Given the description of an element on the screen output the (x, y) to click on. 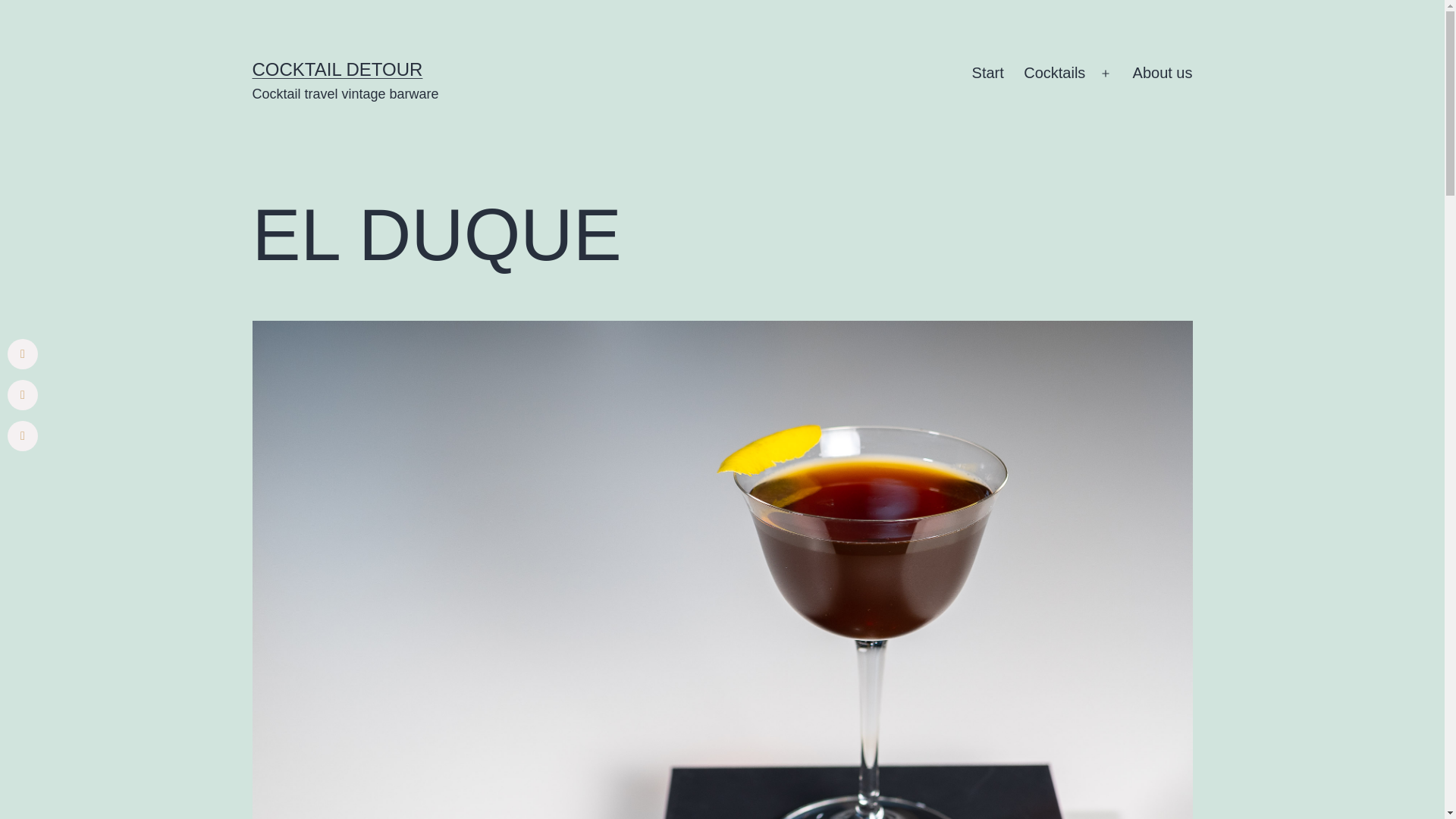
Start (986, 73)
COCKTAIL DETOUR (336, 68)
About us (1162, 73)
Cocktails (1054, 73)
